Given the description of an element on the screen output the (x, y) to click on. 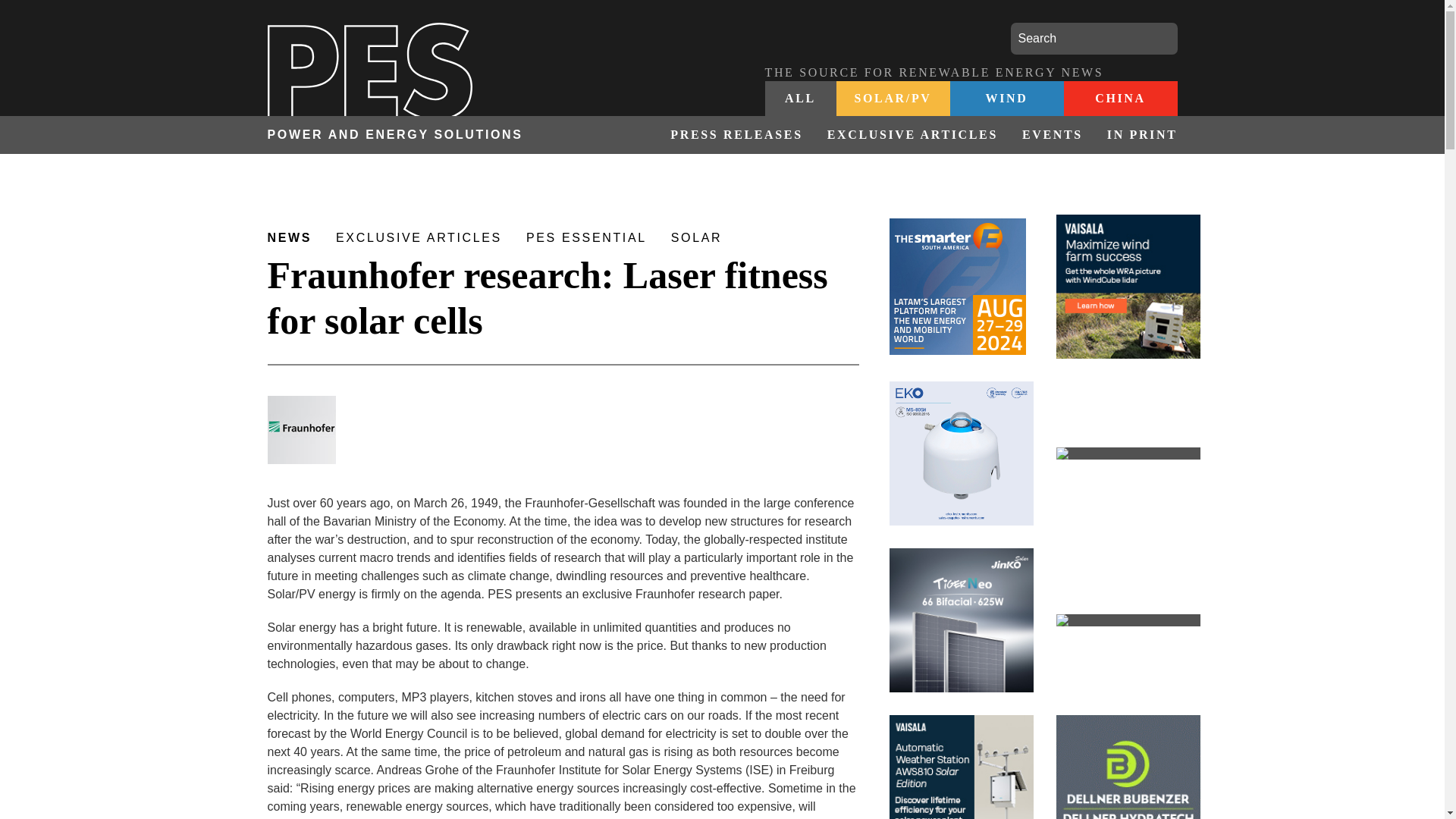
EVENTS (1052, 134)
Search for: (1093, 38)
IN PRINT (1135, 134)
PRESS RELEASES (735, 134)
ALL (799, 98)
WIND (1005, 98)
CHINA (1119, 98)
EXCLUSIVE ARTICLES (912, 134)
